Given the description of an element on the screen output the (x, y) to click on. 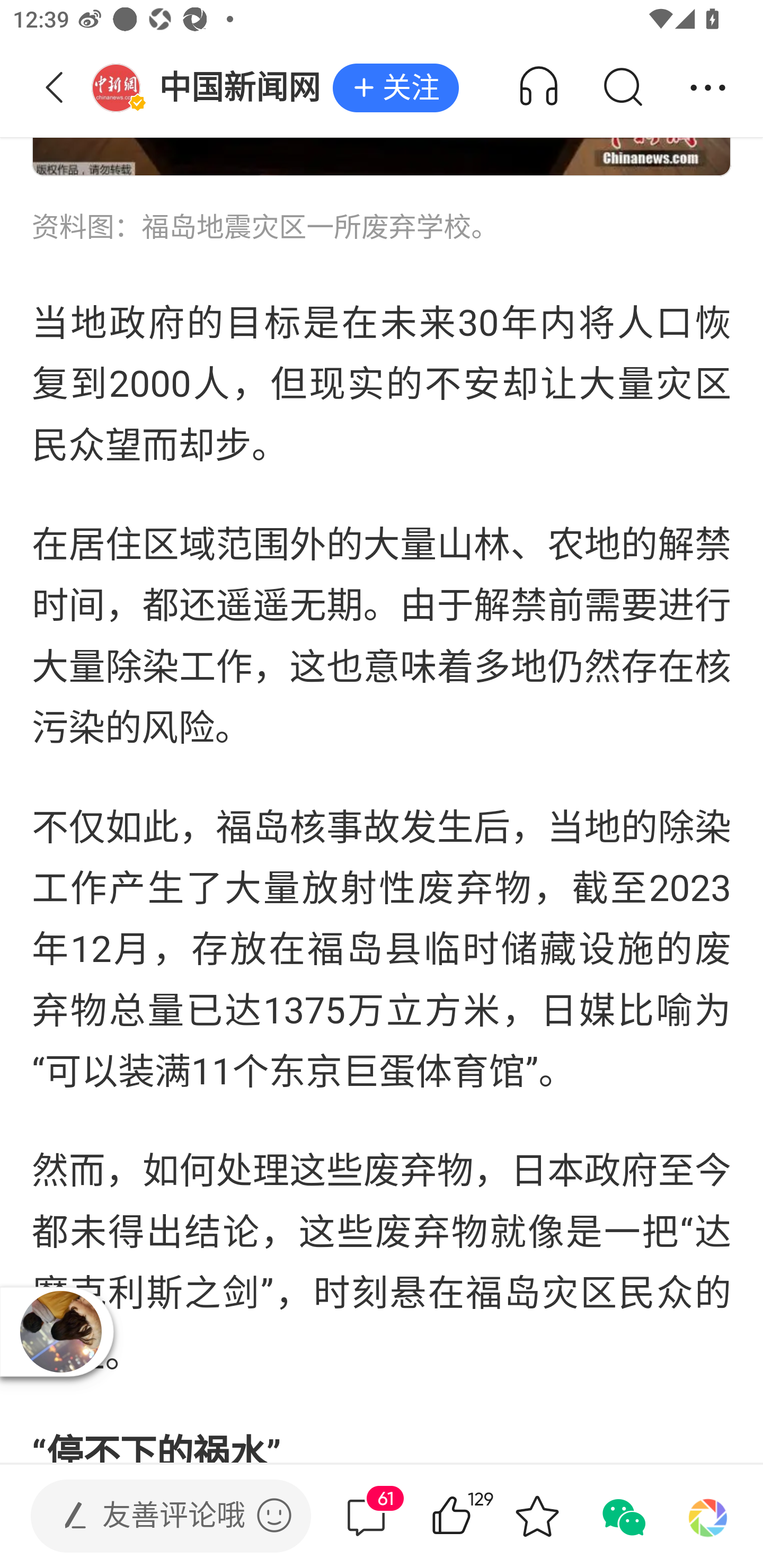
中国新闻网 (211, 87)
搜索  (622, 87)
分享  (707, 87)
 返回 (54, 87)
 关注 (395, 88)
播放器 (60, 1331)
发表评论  友善评论哦 发表评论  (155, 1516)
61评论  61 评论 (365, 1516)
129赞 (476, 1516)
收藏  (536, 1516)
分享到微信  (622, 1516)
分享到朋友圈 (707, 1516)
 (274, 1515)
